Given the description of an element on the screen output the (x, y) to click on. 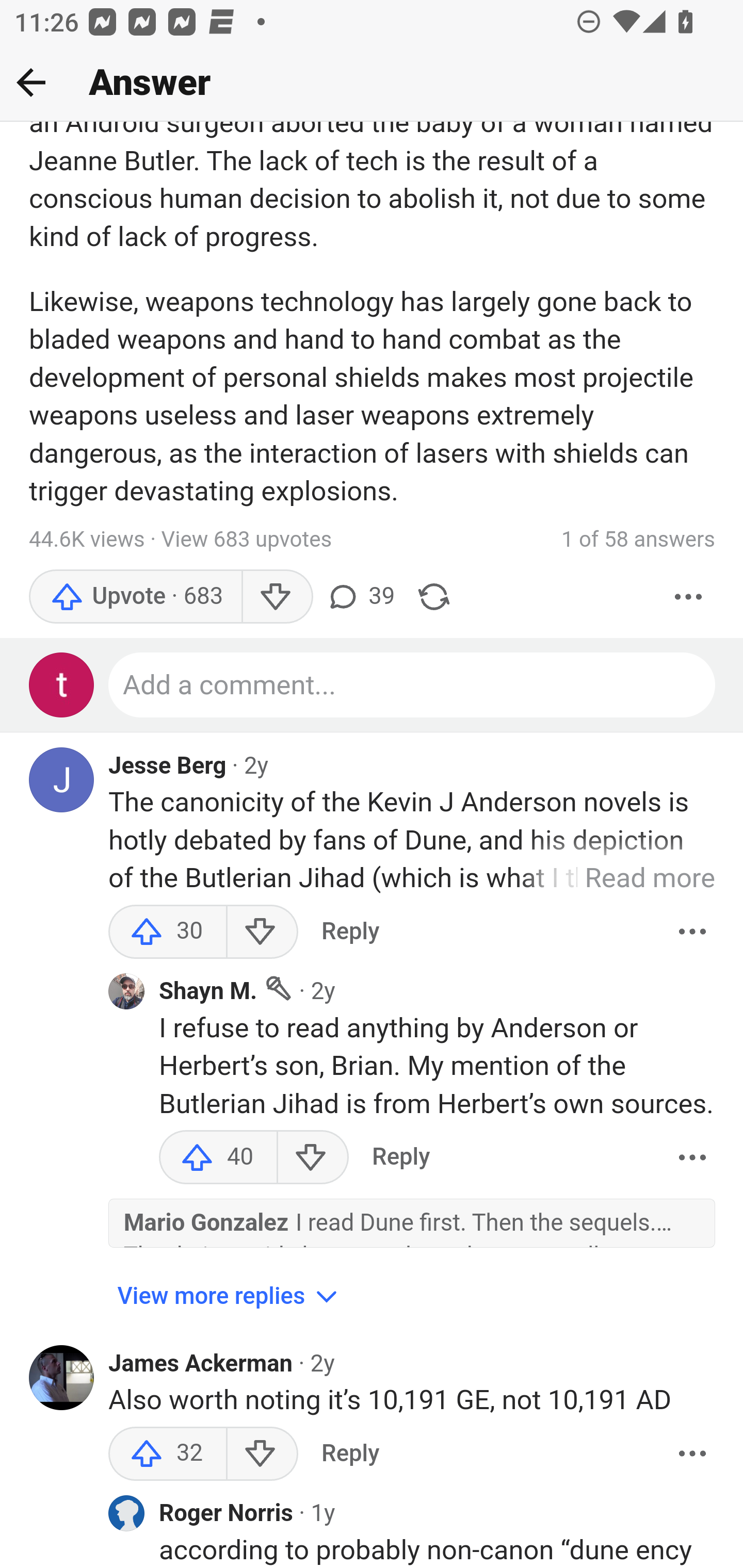
Back (30, 82)
View 683 upvotes (246, 539)
1 of 58 answers (637, 539)
Upvote (135, 597)
Downvote (277, 597)
39 comments (360, 597)
Share (434, 597)
More (688, 597)
Profile photo for Test Appium (61, 685)
Add a comment... (412, 685)
Profile photo for Jesse Berg (61, 780)
Jesse Berg (167, 766)
30 upvotes (167, 932)
Downvote (261, 932)
Reply (350, 932)
More (691, 932)
Profile photo for Shayn M. (126, 991)
Shayn M. (208, 992)
40 upvotes (218, 1157)
Downvote (312, 1157)
Reply (400, 1157)
More (691, 1157)
View more replies (230, 1297)
Profile photo for James Ackerman (61, 1378)
James Ackerman (201, 1363)
32 upvotes (167, 1454)
Downvote (261, 1454)
Reply (350, 1454)
More (691, 1454)
Profile photo for Roger Norris (126, 1513)
Roger Norris (226, 1514)
